Given the description of an element on the screen output the (x, y) to click on. 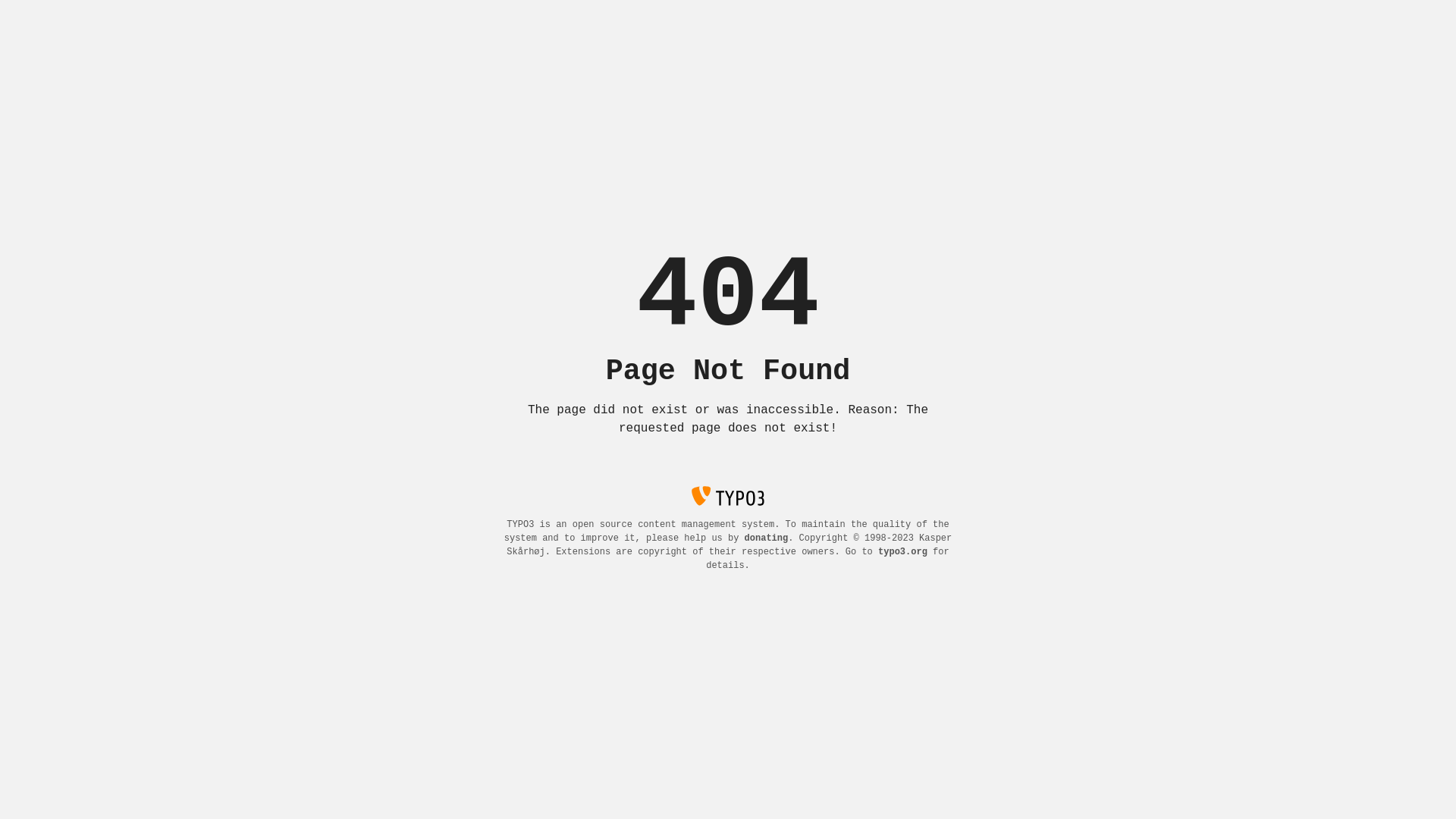
donating Element type: text (766, 538)
typo3.org Element type: text (902, 551)
